Given the description of an element on the screen output the (x, y) to click on. 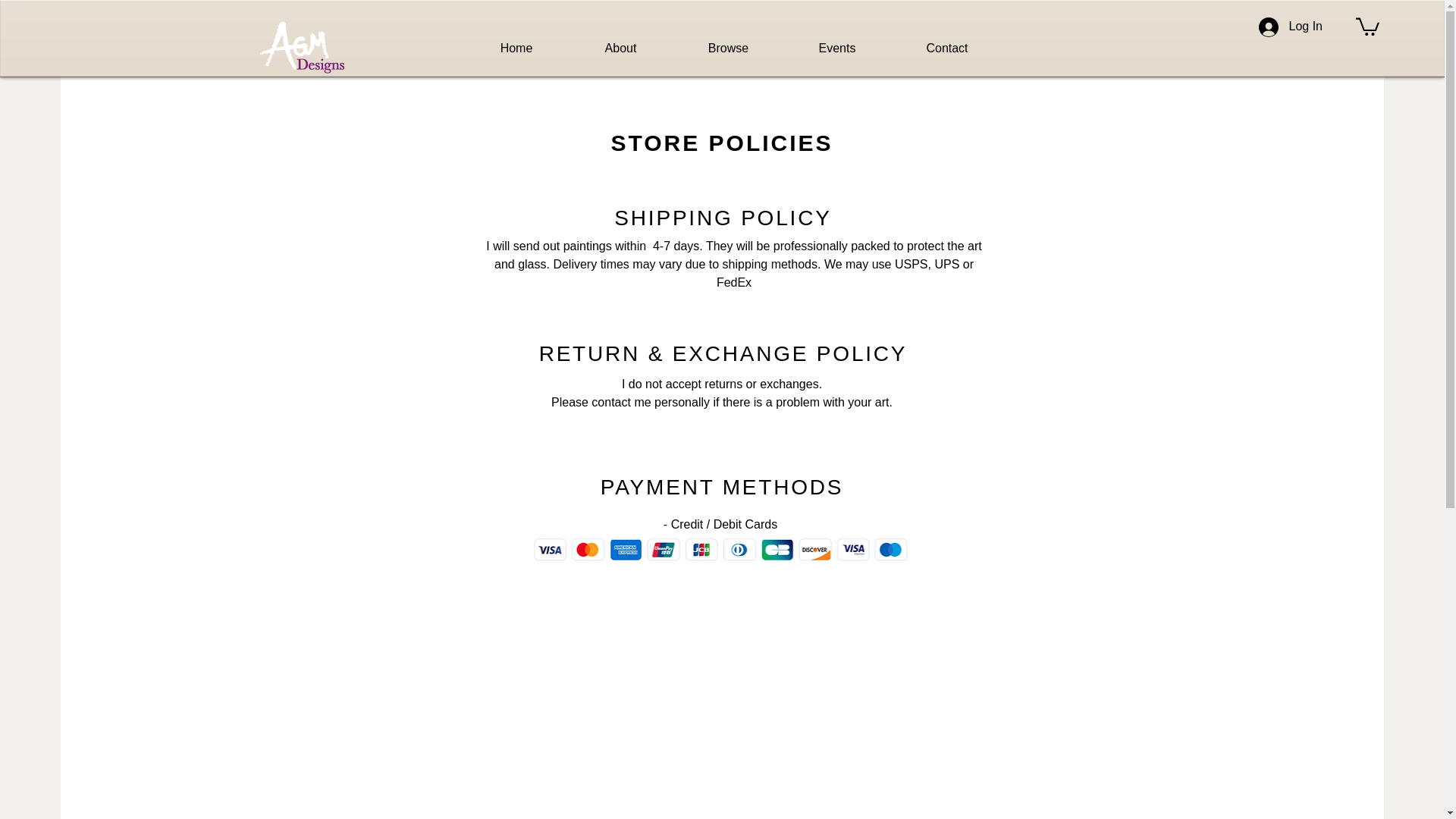
About (620, 48)
Amy Glover Martin Designs (301, 46)
AMY GLOVER MARTIN (265, 33)
Home (515, 48)
Contact (946, 48)
Browse (728, 48)
Log In (1290, 26)
Events (837, 48)
